Given the description of an element on the screen output the (x, y) to click on. 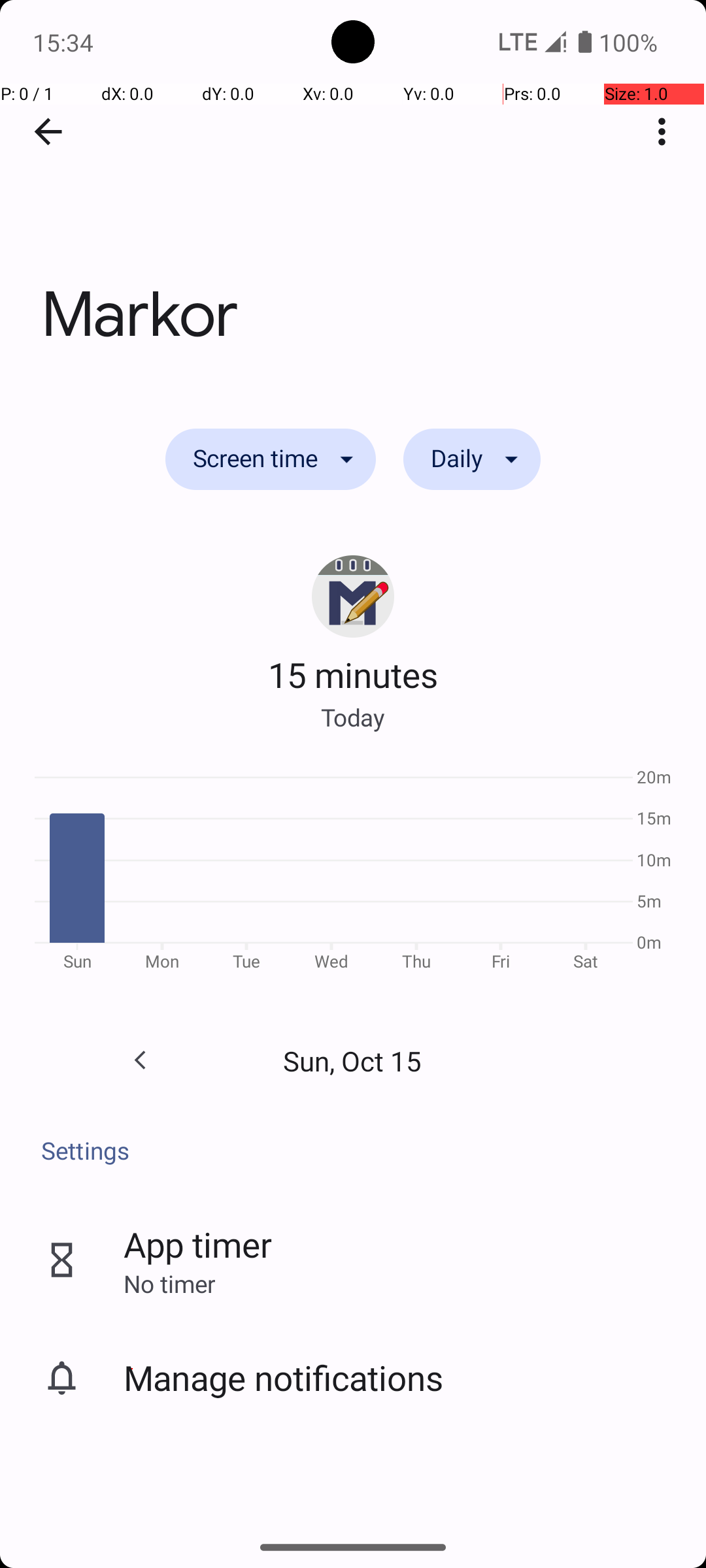
15 minutes Element type: android.widget.TextView (353, 674)
App timer Element type: android.widget.TextView (197, 1244)
No timer Element type: android.widget.TextView (169, 1283)
Manage notifications Element type: android.widget.TextView (283, 1377)
